Given the description of an element on the screen output the (x, y) to click on. 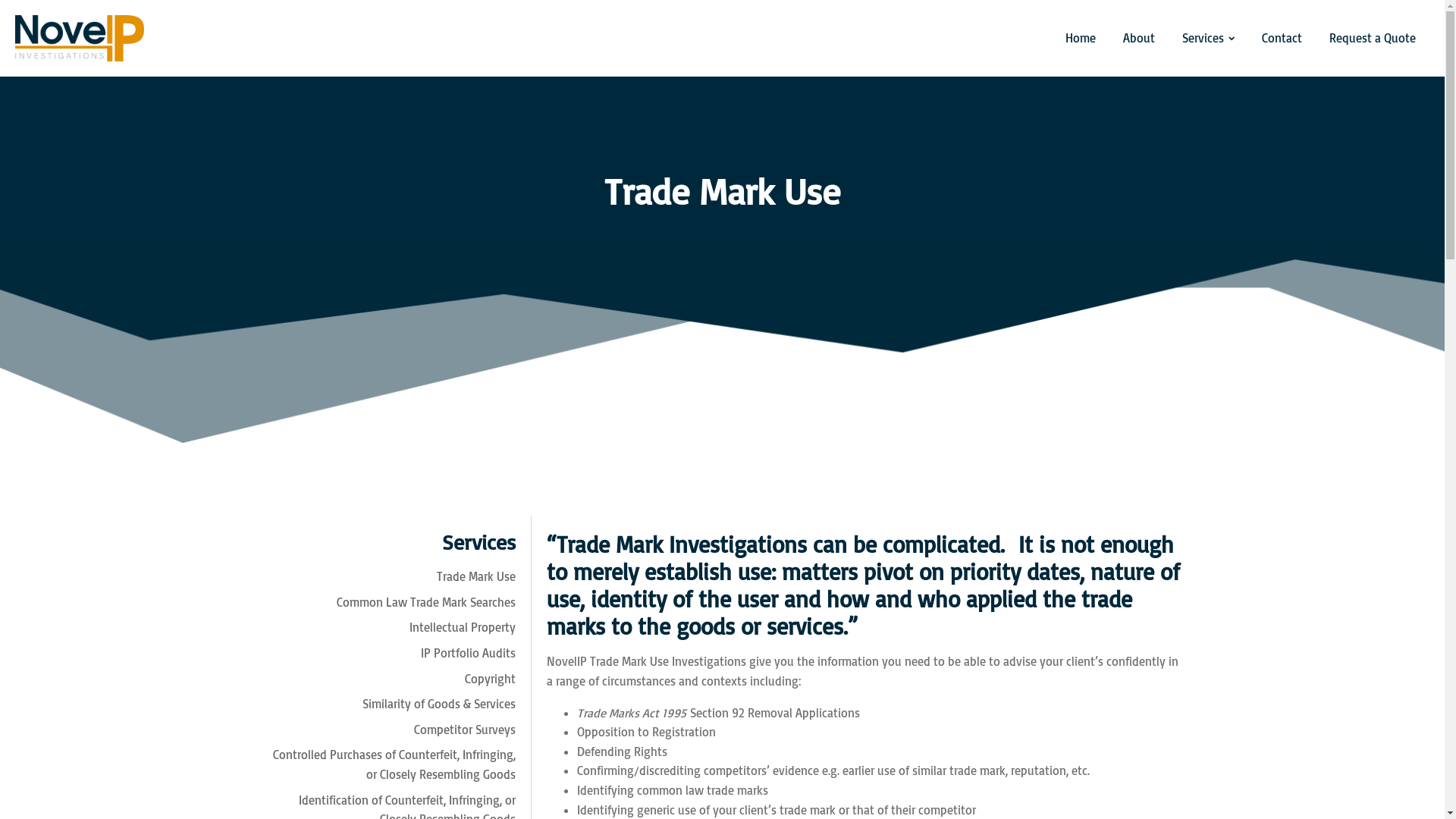
Competitor Surveys Element type: text (386, 730)
Common Law Trade Mark Searches Element type: text (386, 602)
Intellectual Property Element type: text (386, 627)
About Element type: text (1138, 38)
IP Portfolio Audits Element type: text (386, 653)
Copyright Element type: text (386, 679)
Similarity of Goods & Services Element type: text (386, 704)
Contact Element type: text (1281, 38)
Trade Mark Use Element type: text (386, 576)
Services Element type: text (1208, 38)
Home Element type: text (1080, 38)
Request a Quote Element type: text (1372, 38)
